Given the description of an element on the screen output the (x, y) to click on. 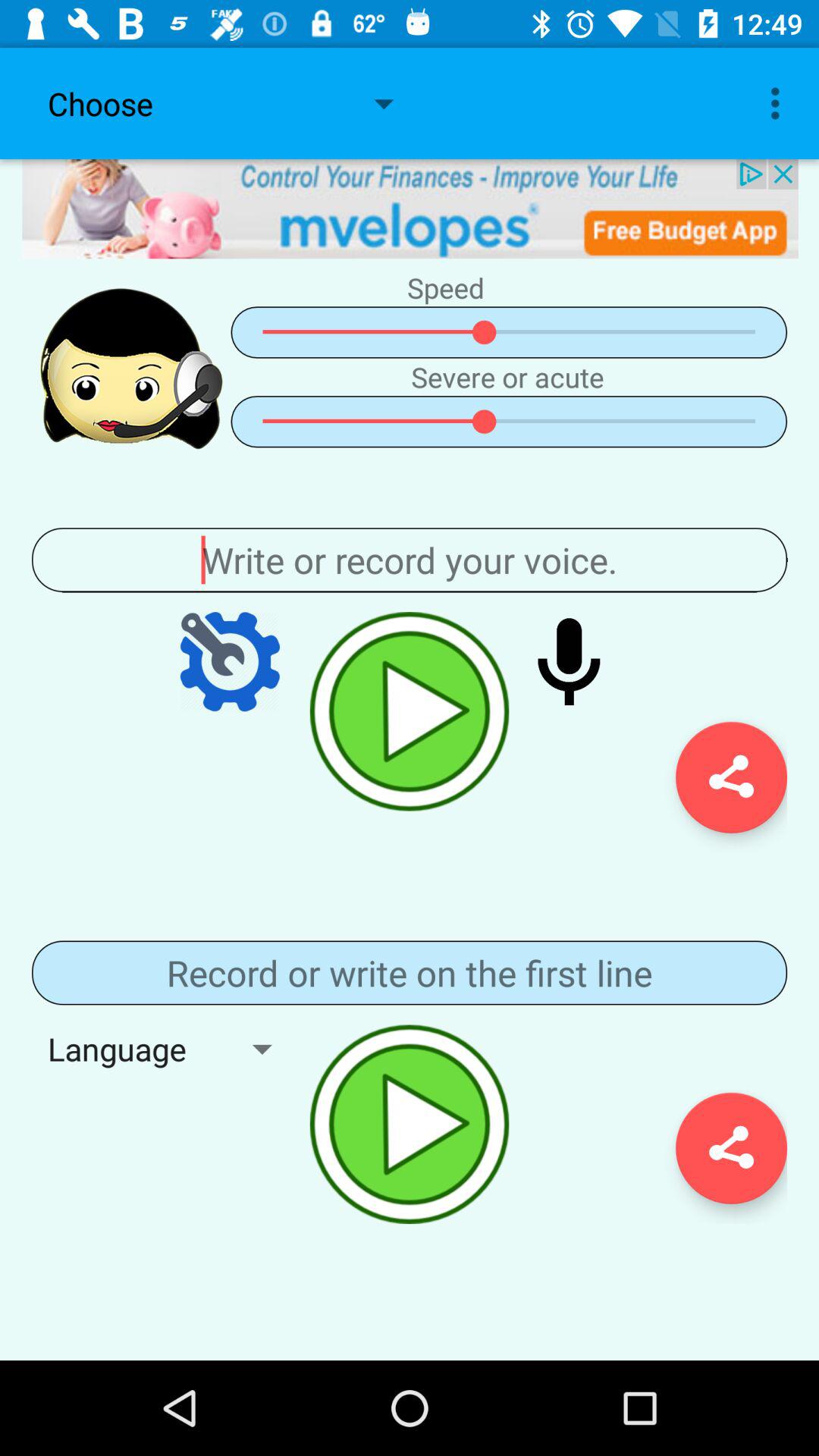
menu page (229, 661)
